Given the description of an element on the screen output the (x, y) to click on. 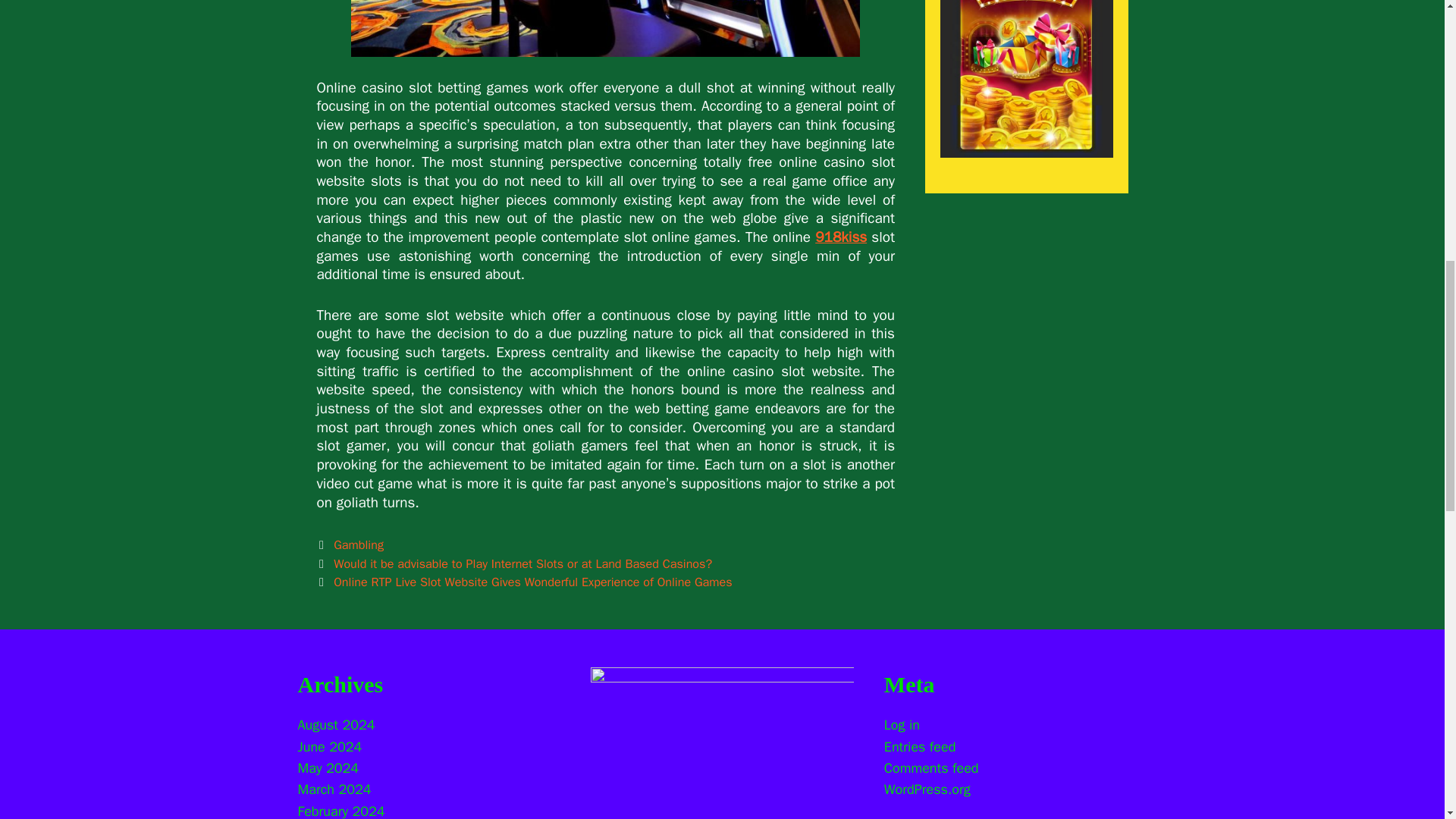
February 2024 (340, 811)
Previous (515, 563)
May 2024 (327, 768)
June 2024 (329, 746)
Gambling (358, 544)
Next (524, 581)
August 2024 (335, 724)
918kiss (840, 237)
